Given the description of an element on the screen output the (x, y) to click on. 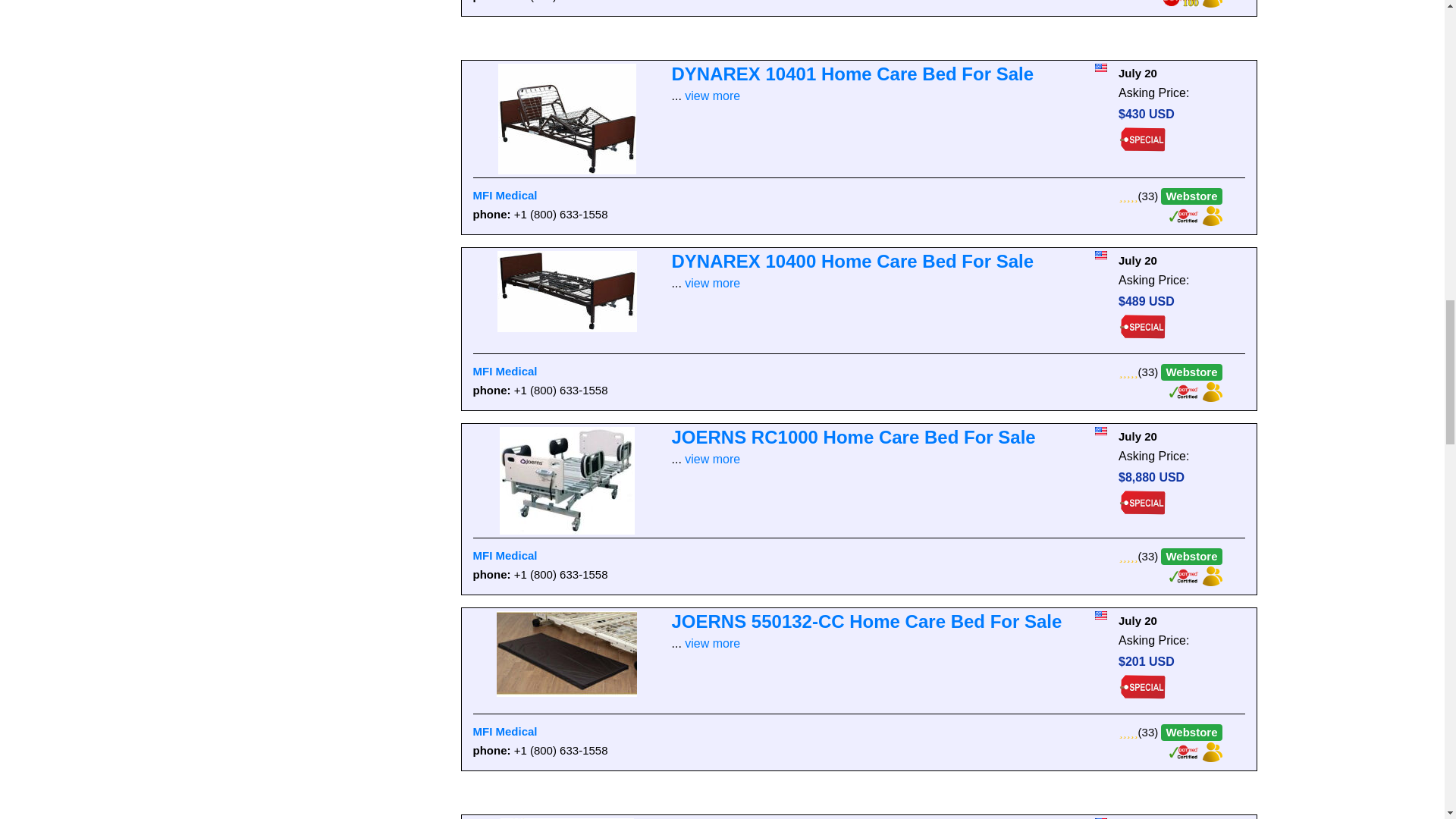
Dealer Pricing (1142, 139)
Visit My Virtual Trade Show Booth (1212, 214)
This User is DOTmed Certified (1185, 214)
Dealer Pricing (1142, 326)
This User is DOTmed Certified (1185, 390)
Visit My Virtual Trade Show Booth (1212, 1)
This User is part of the DOTmed 100 (1181, 1)
